Given the description of an element on the screen output the (x, y) to click on. 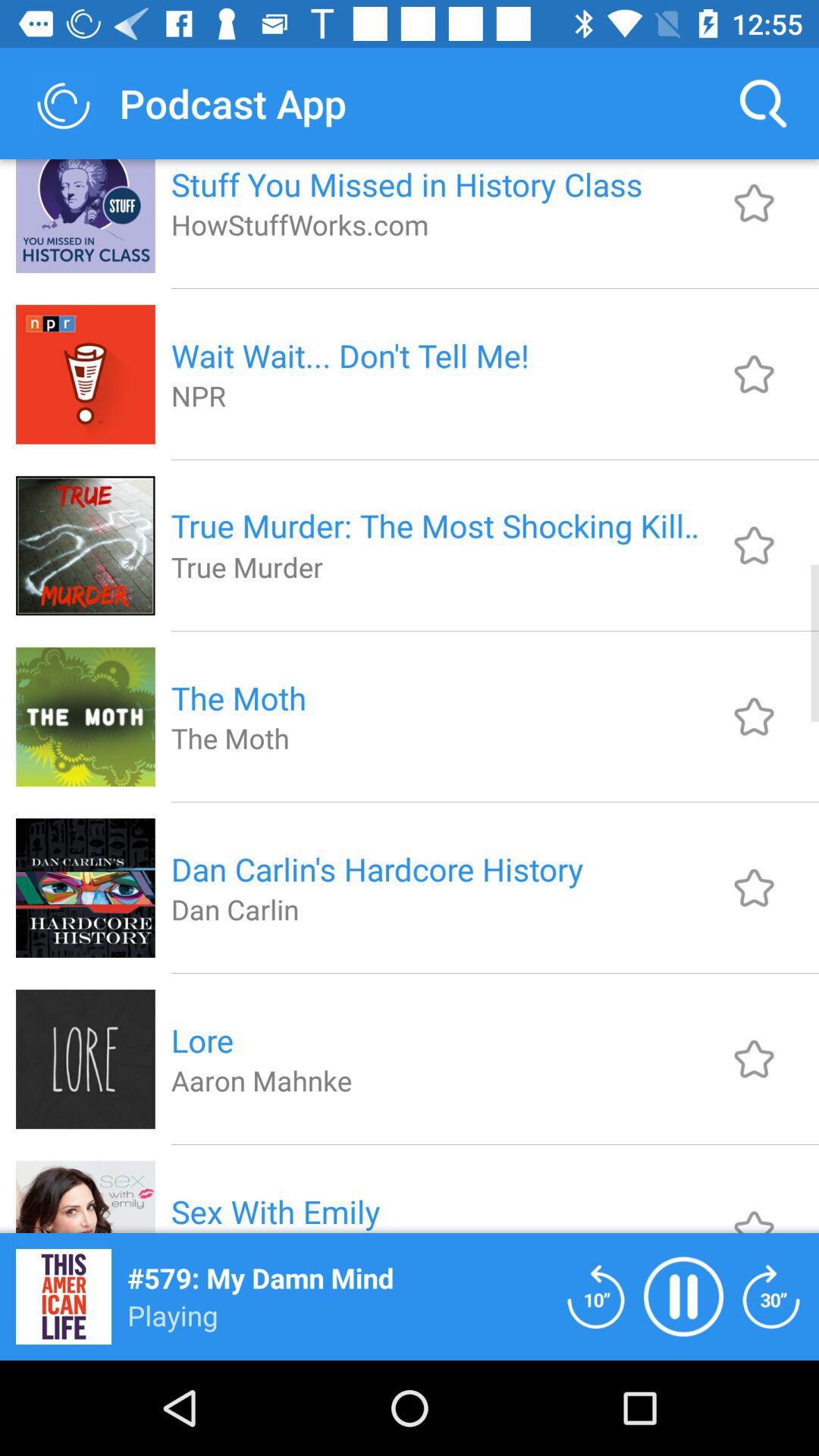
rewind back 30 seconds (771, 1296)
